Given the description of an element on the screen output the (x, y) to click on. 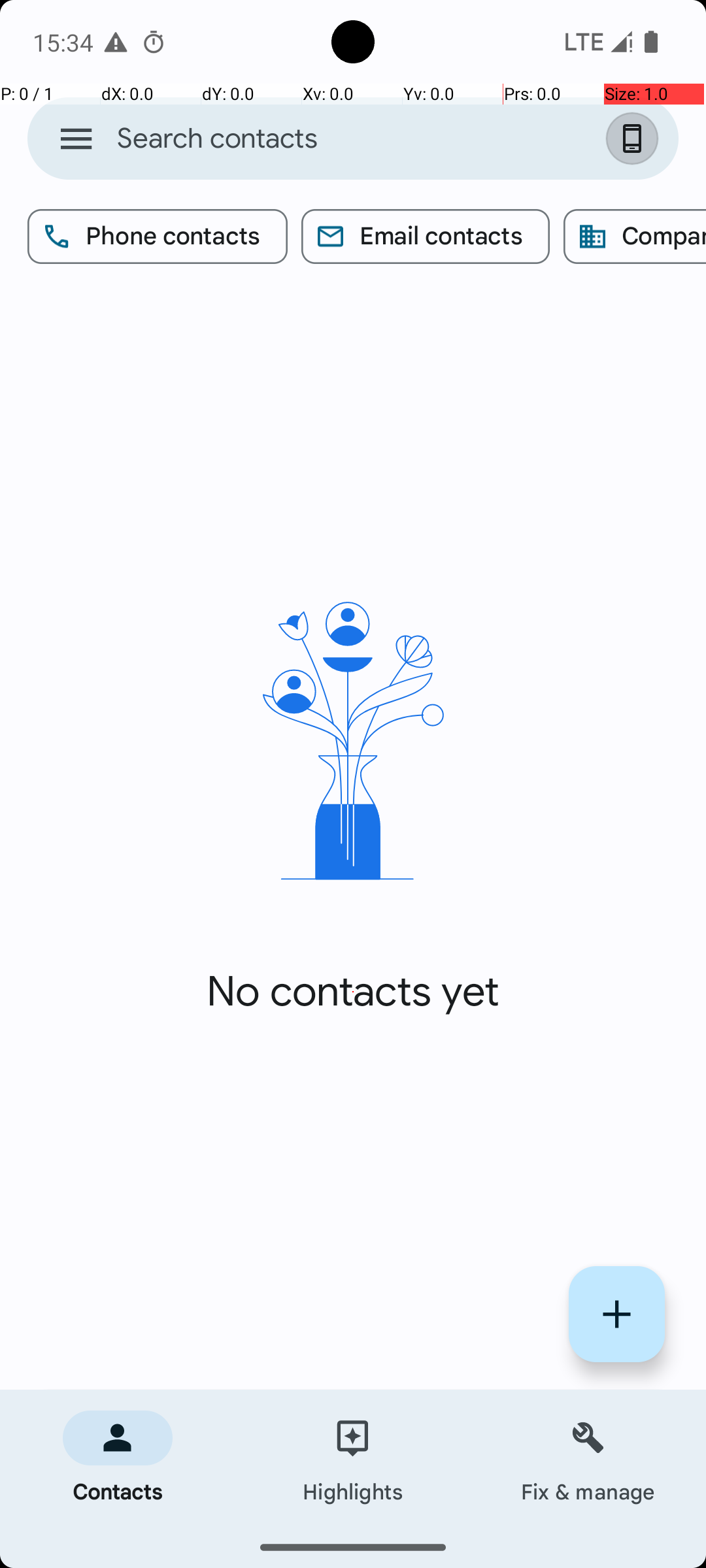
Highlights Element type: android.widget.FrameLayout (352, 1457)
Fix & manage Element type: android.widget.FrameLayout (588, 1457)
Open navigation drawer Element type: android.widget.ImageButton (75, 138)
Signed in as Device
Account and settings. Element type: android.widget.FrameLayout (634, 138)
No contacts yet Element type: android.widget.TextView (353, 991)
Phone contacts Element type: android.widget.Button (157, 236)
Email contacts Element type: android.widget.Button (425, 236)
